Given the description of an element on the screen output the (x, y) to click on. 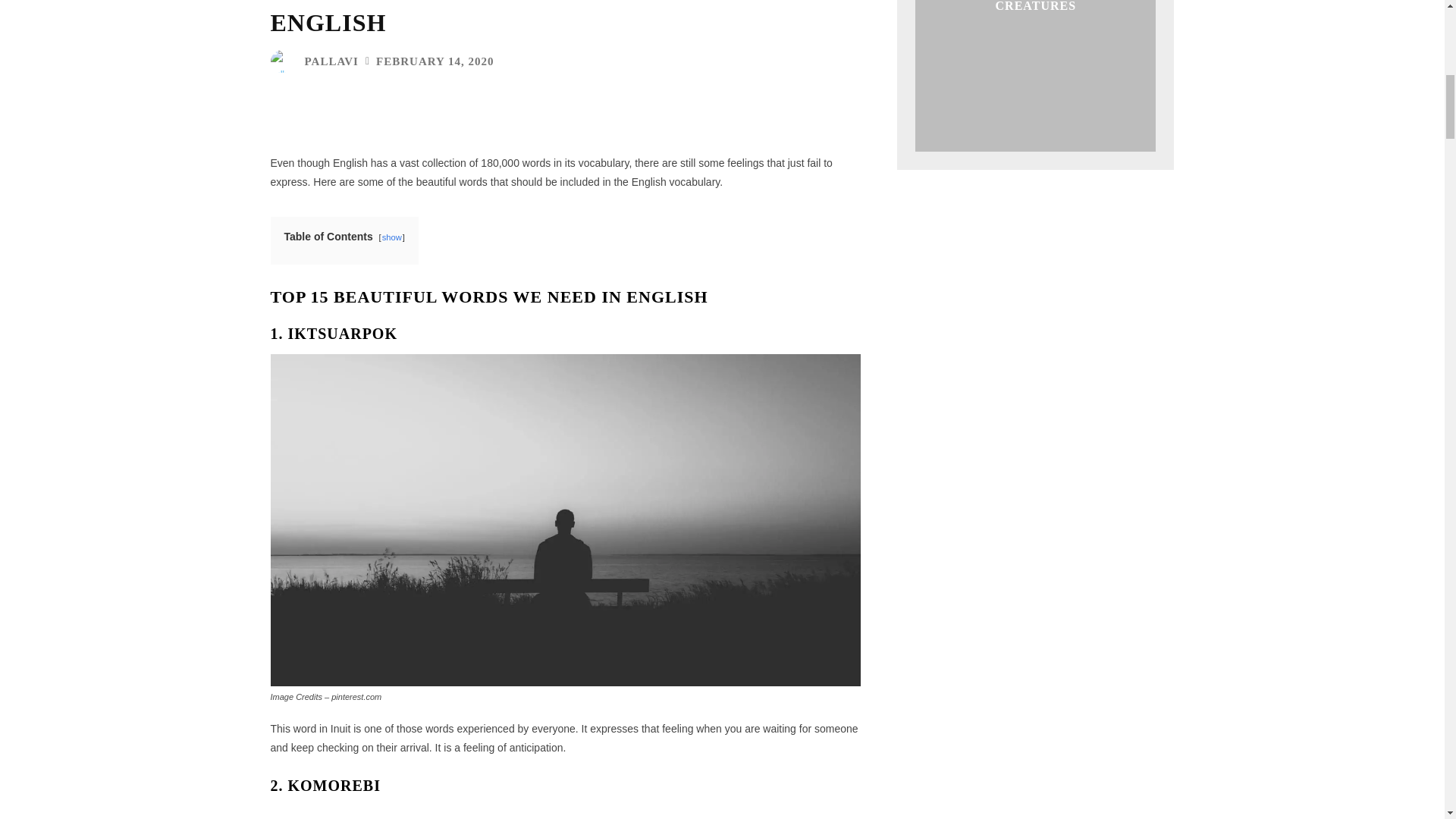
Pallavi (284, 60)
show (391, 236)
PALLAVI (331, 61)
